Given the description of an element on the screen output the (x, y) to click on. 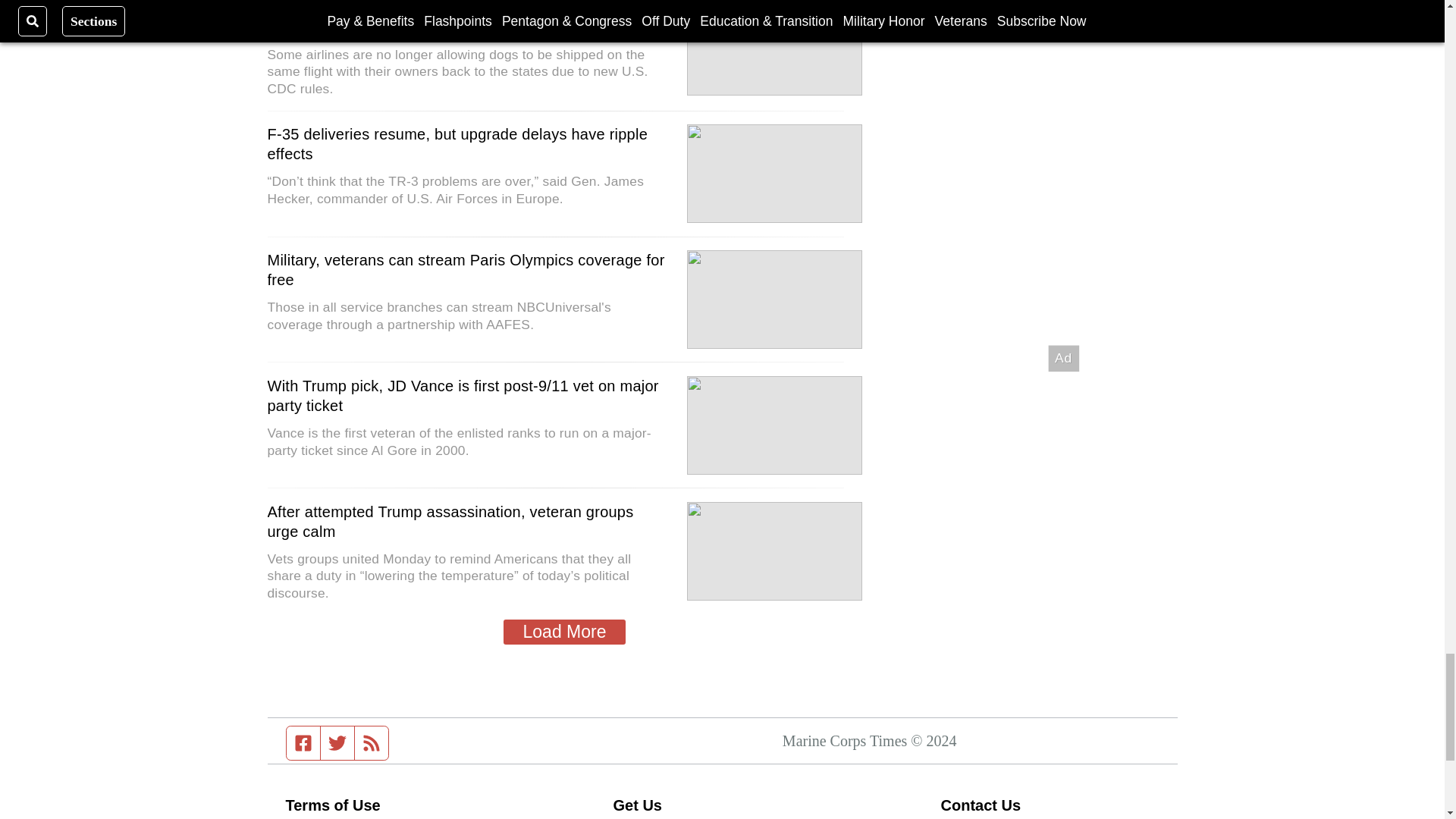
Facebook page (303, 743)
Twitter feed (336, 743)
RSS feed (371, 743)
